Given the description of an element on the screen output the (x, y) to click on. 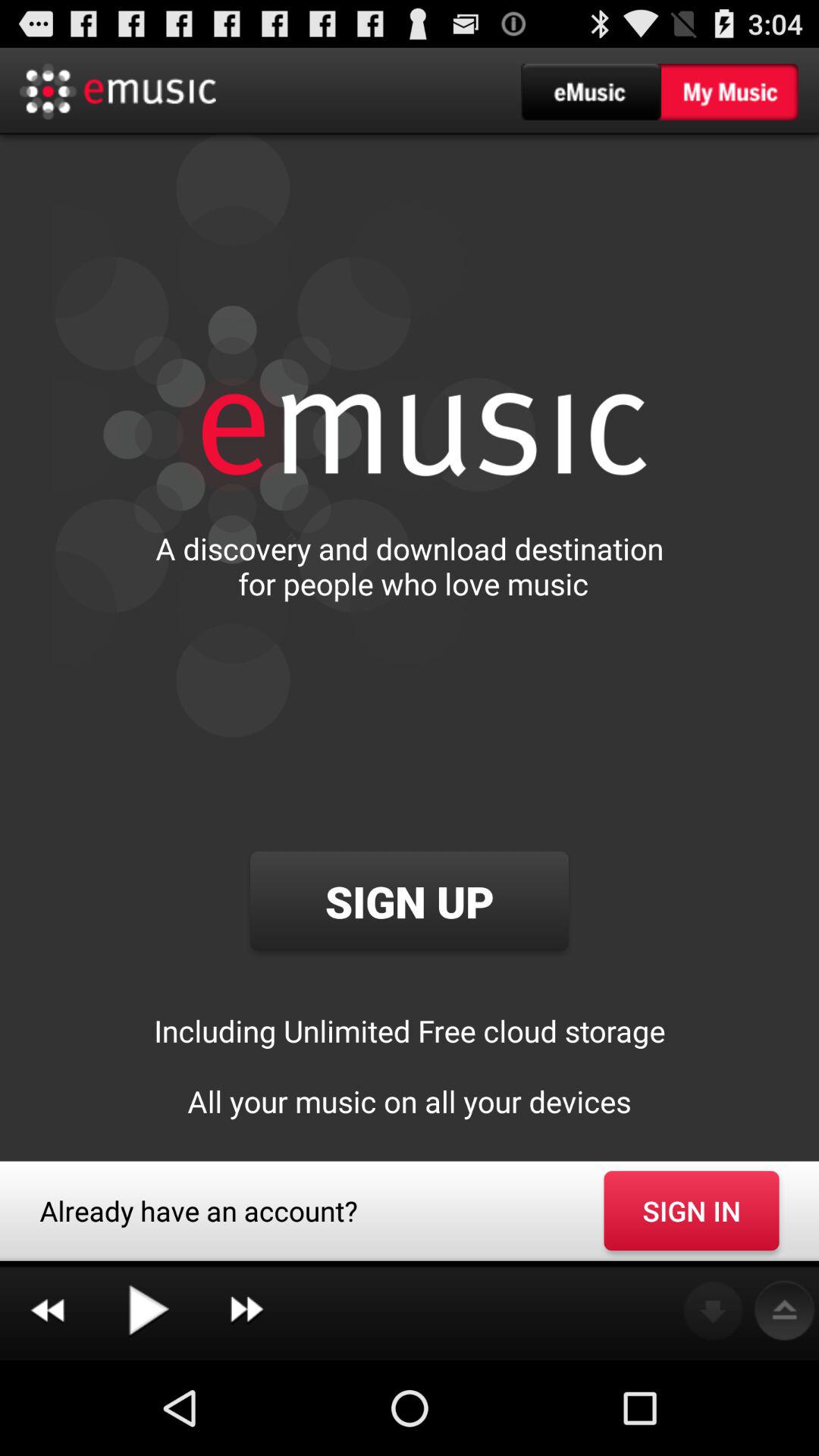
turn on item to the left of the sign in icon (246, 1311)
